Given the description of an element on the screen output the (x, y) to click on. 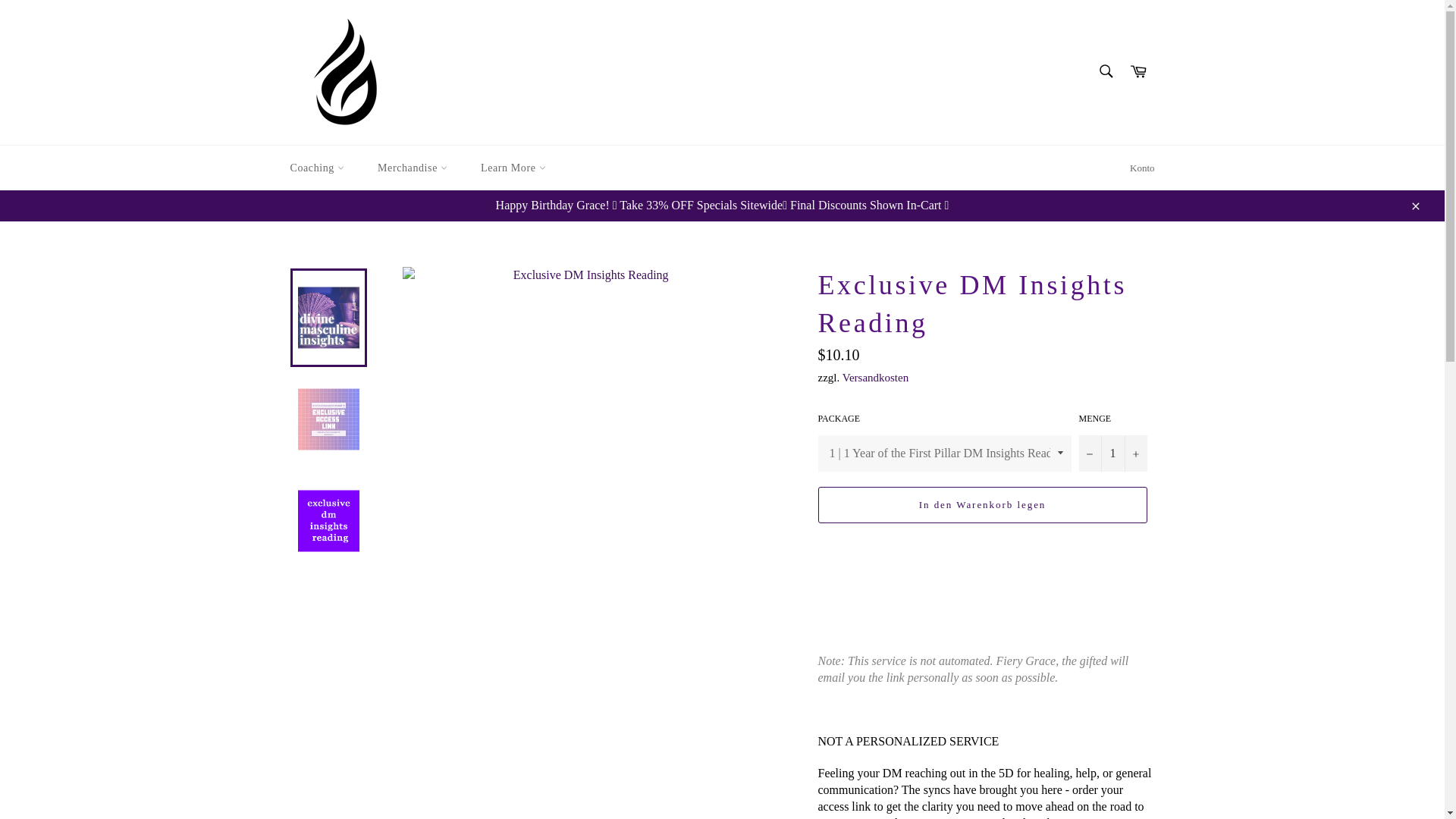
1 (1112, 452)
